Given the description of an element on the screen output the (x, y) to click on. 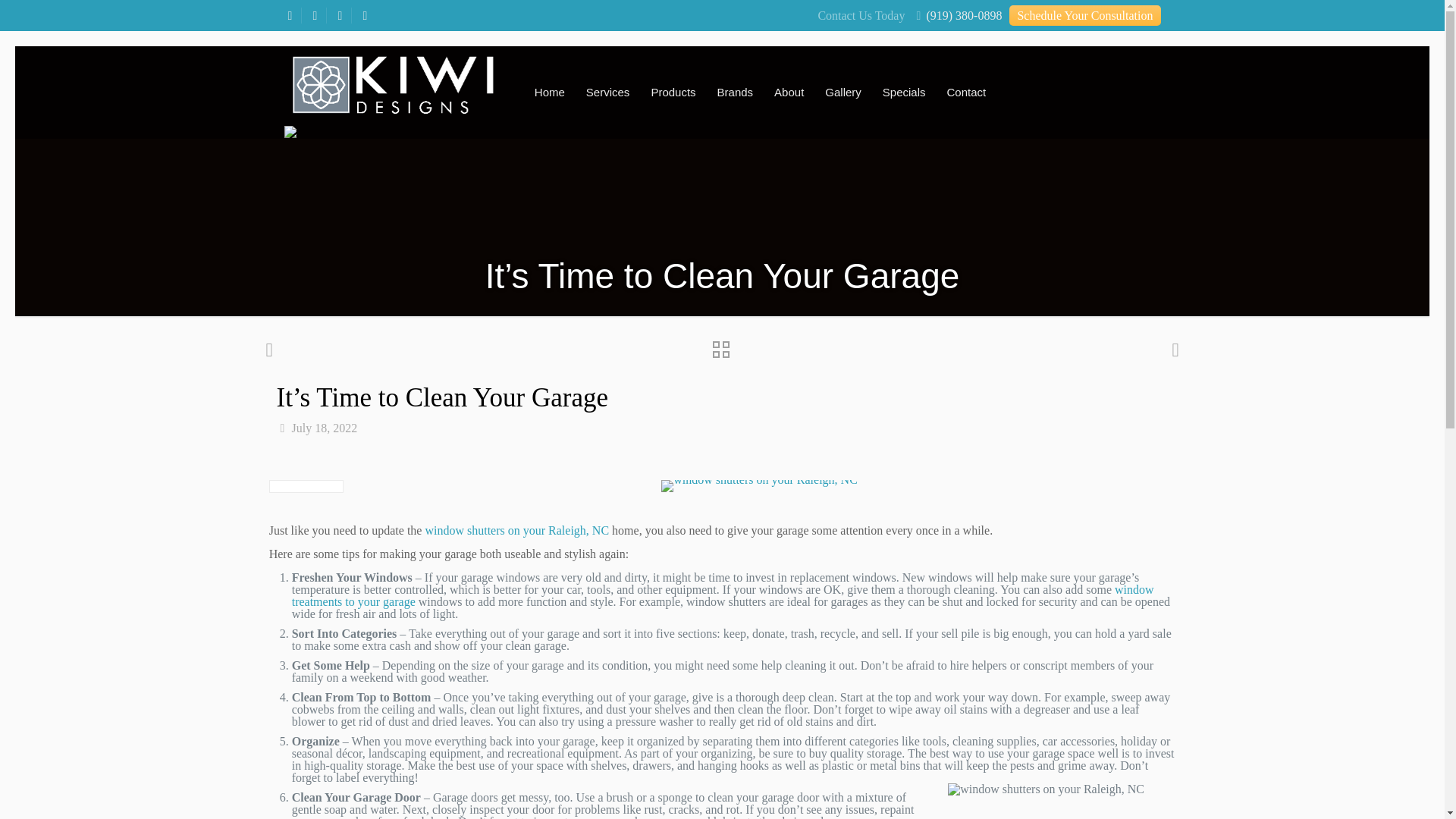
Products (673, 91)
Contact (966, 91)
Specials (904, 91)
Schedule Your Consultation (1084, 14)
Kiwi Designs (391, 83)
Services (607, 91)
